Given the description of an element on the screen output the (x, y) to click on. 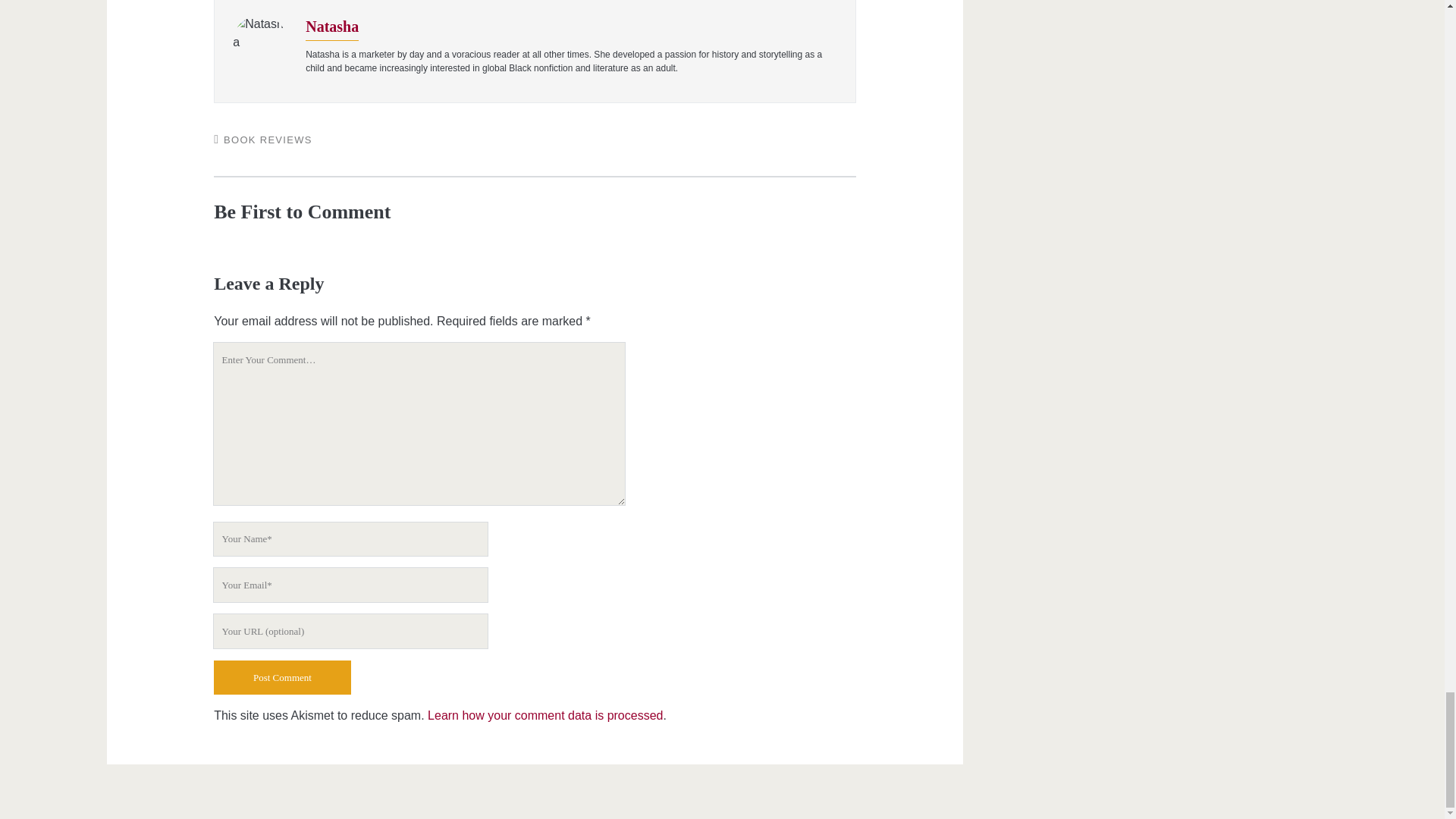
Natasha (331, 26)
BOOK REVIEWS (268, 139)
View all posts in Book Reviews (268, 139)
Learn how your comment data is processed (545, 715)
Post Comment (282, 677)
Post Comment (282, 677)
